Given the description of an element on the screen output the (x, y) to click on. 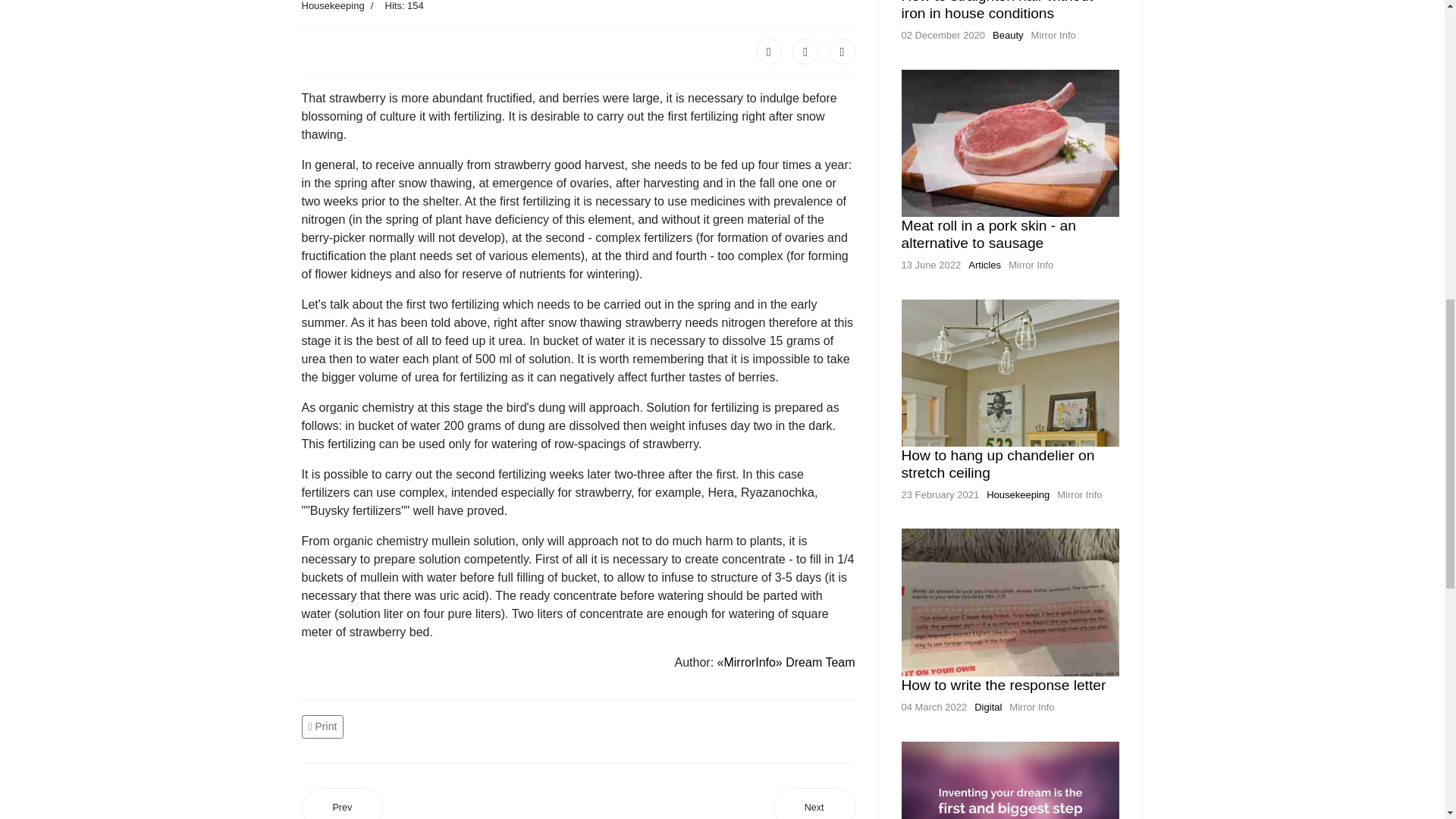
Articles (984, 265)
How to straighten hair without iron in house conditions (997, 10)
Housekeeping (1018, 494)
Prev (342, 803)
LinkedIn (842, 51)
Category: Housekeeping (333, 6)
Beauty (1007, 34)
Housekeeping (333, 5)
Print (324, 725)
Facebook (768, 51)
